Given the description of an element on the screen output the (x, y) to click on. 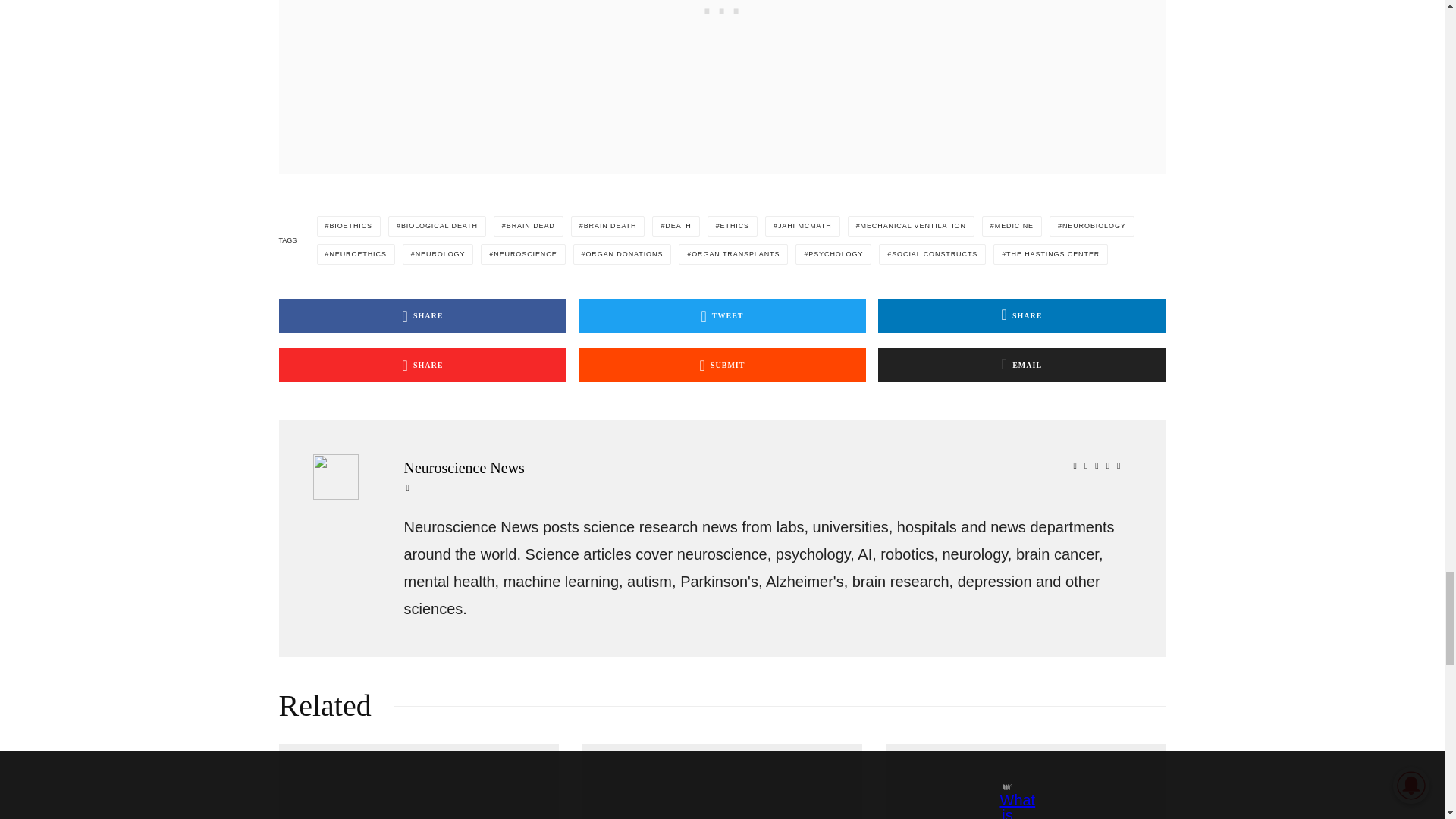
DEATH (675, 226)
MECHANICAL VENTILATION (910, 226)
NEUROETHICS (355, 254)
BIOLOGICAL DEATH (437, 226)
JAHI MCMATH (802, 226)
NEUROBIOLOGY (1091, 226)
BIOETHICS (349, 226)
BRAIN DEATH (607, 226)
ETHICS (732, 226)
BRAIN DEAD (528, 226)
MEDICINE (1011, 226)
